Given the description of an element on the screen output the (x, y) to click on. 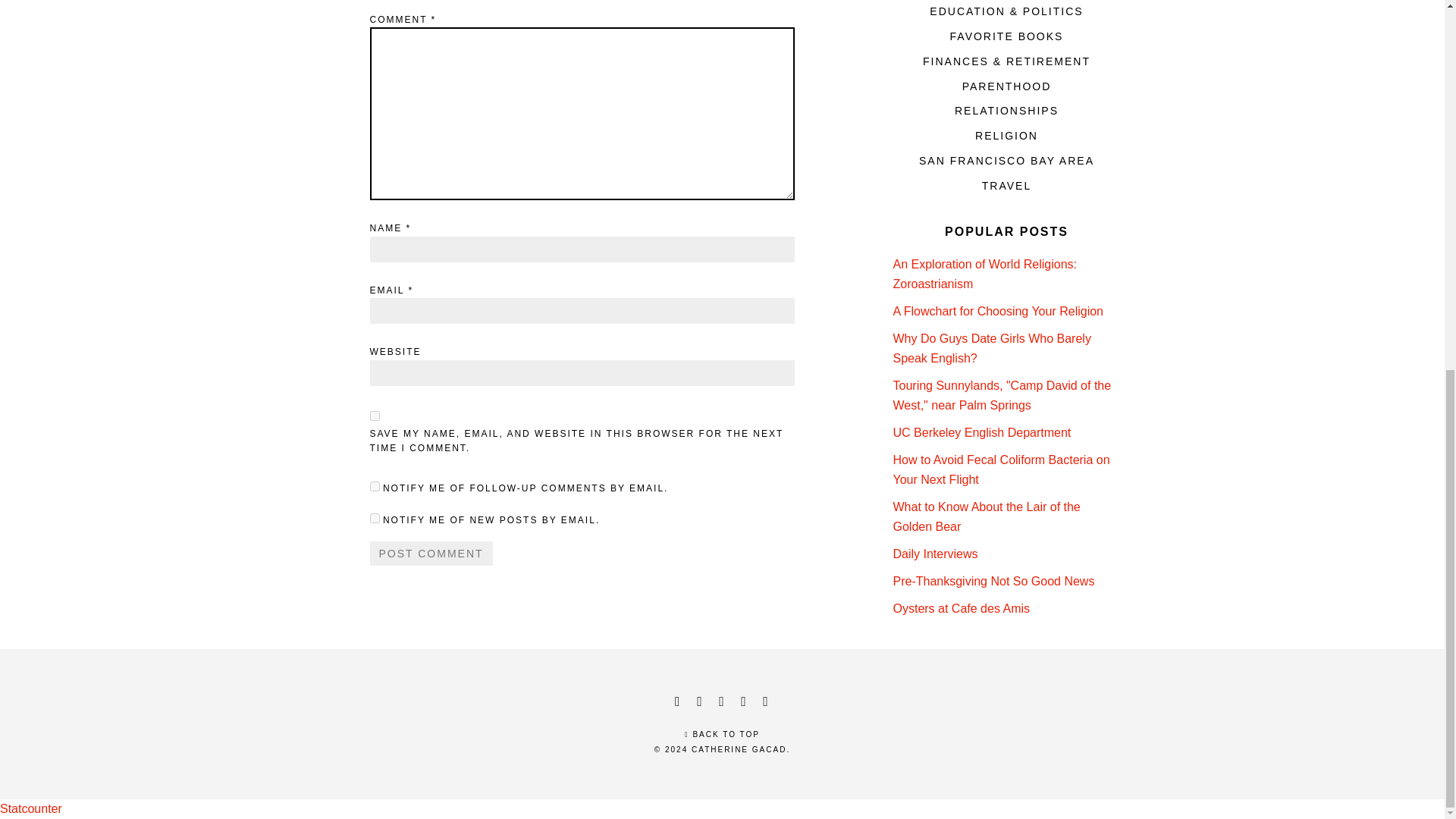
subscribe (374, 486)
yes (374, 415)
Post Comment (431, 553)
subscribe (374, 518)
Post Comment (431, 553)
